Given the description of an element on the screen output the (x, y) to click on. 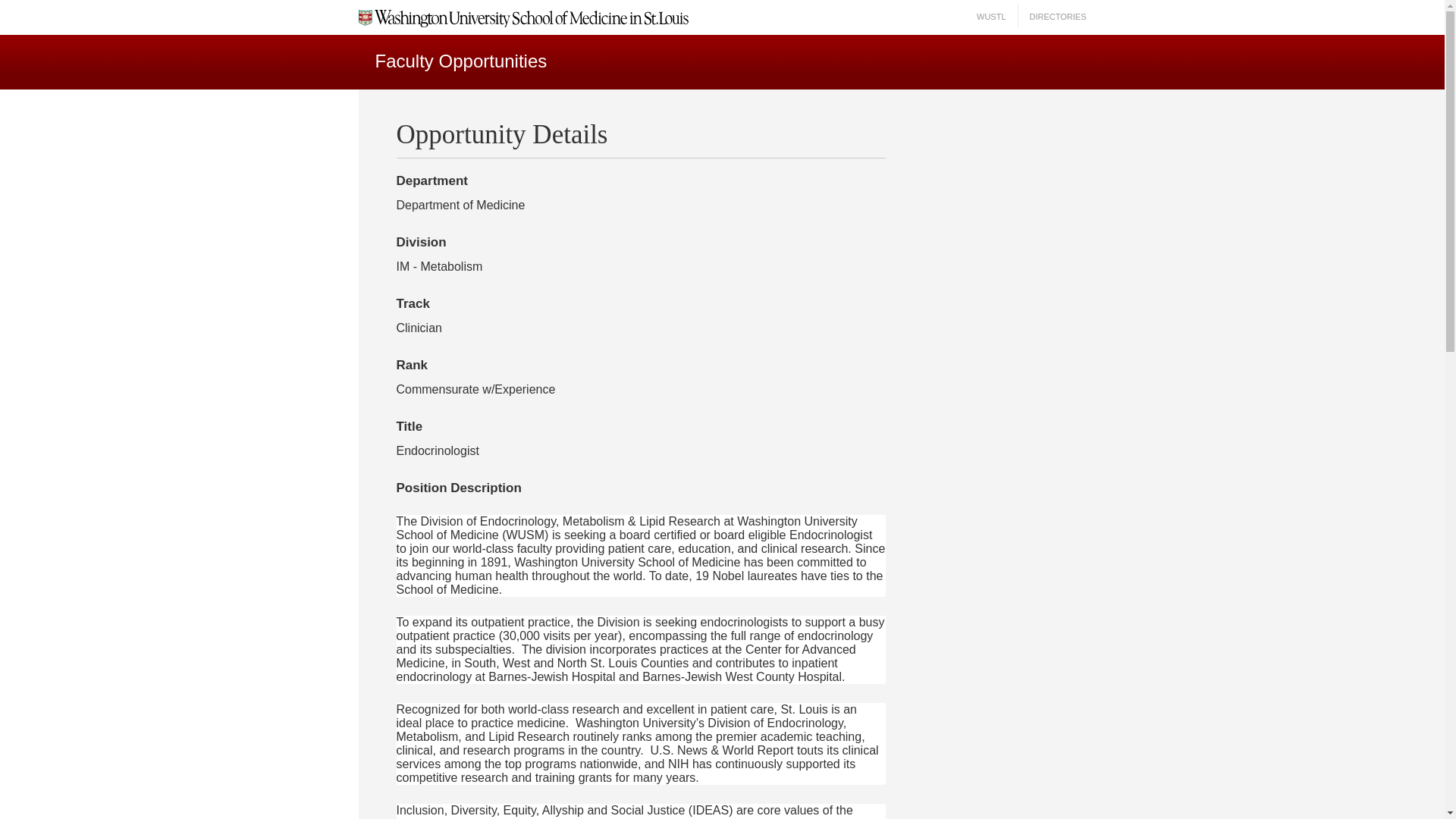
WUSTL (991, 16)
DIRECTORIES (1057, 16)
Faculty Opportunities (460, 60)
